Given the description of an element on the screen output the (x, y) to click on. 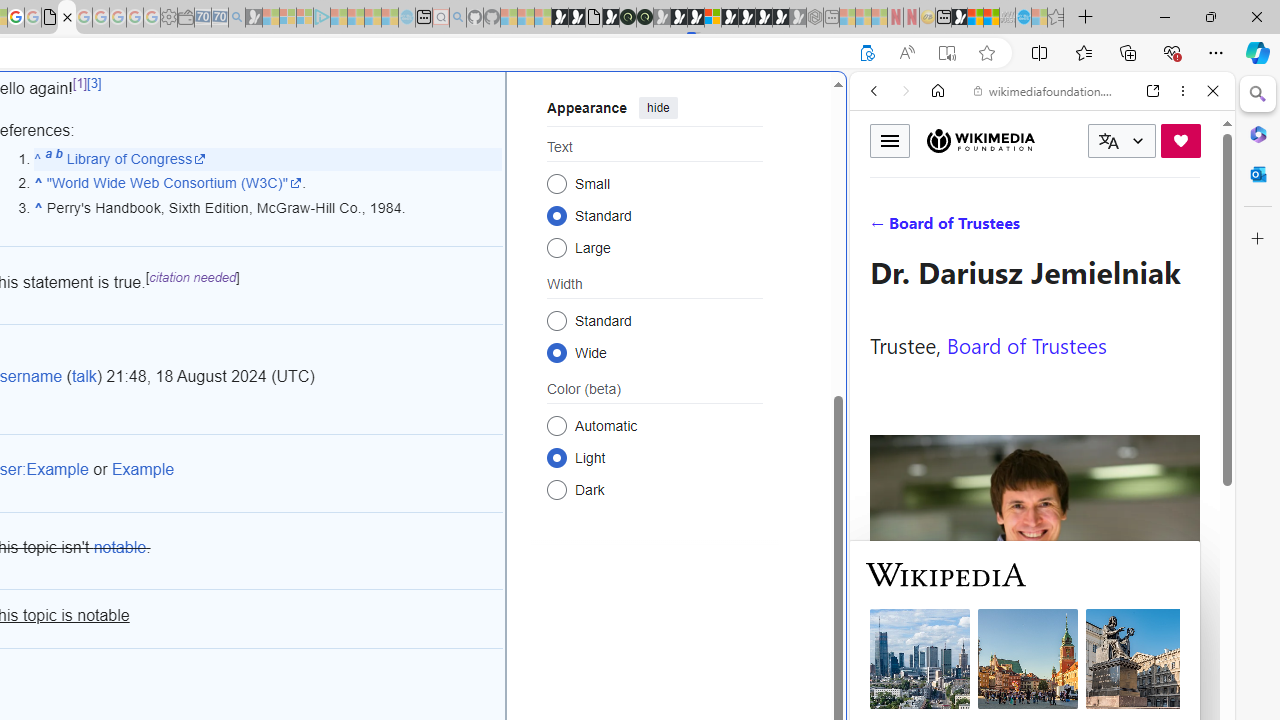
wikimediafoundation.org (1045, 90)
b (58, 158)
Example (143, 469)
Standard (556, 320)
[1] (79, 84)
Wikimedia Foundation (980, 141)
Toggle menu (890, 140)
Wide (556, 352)
